Given the description of an element on the screen output the (x, y) to click on. 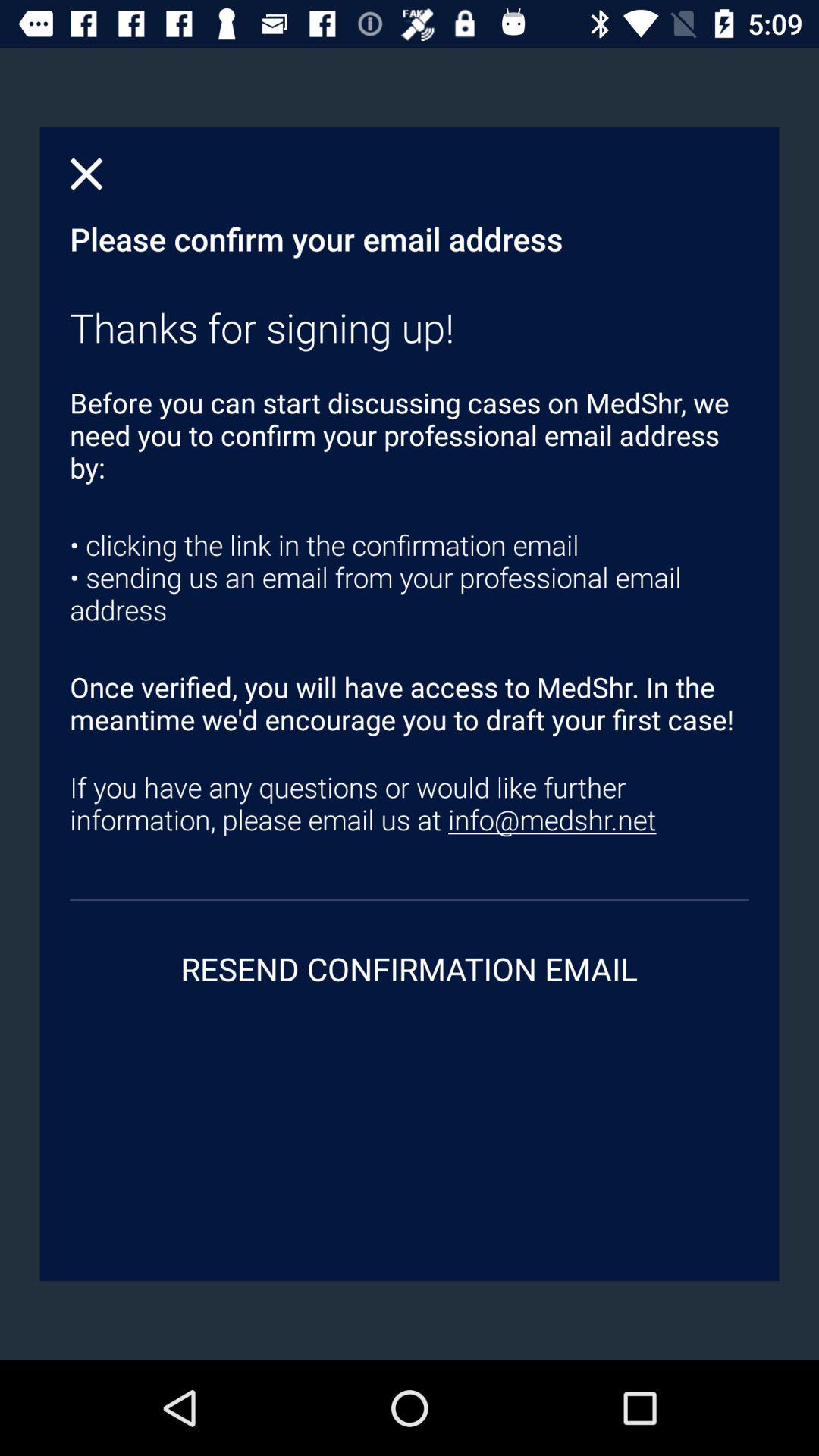
turn off the app above the please confirm your item (85, 173)
